Given the description of an element on the screen output the (x, y) to click on. 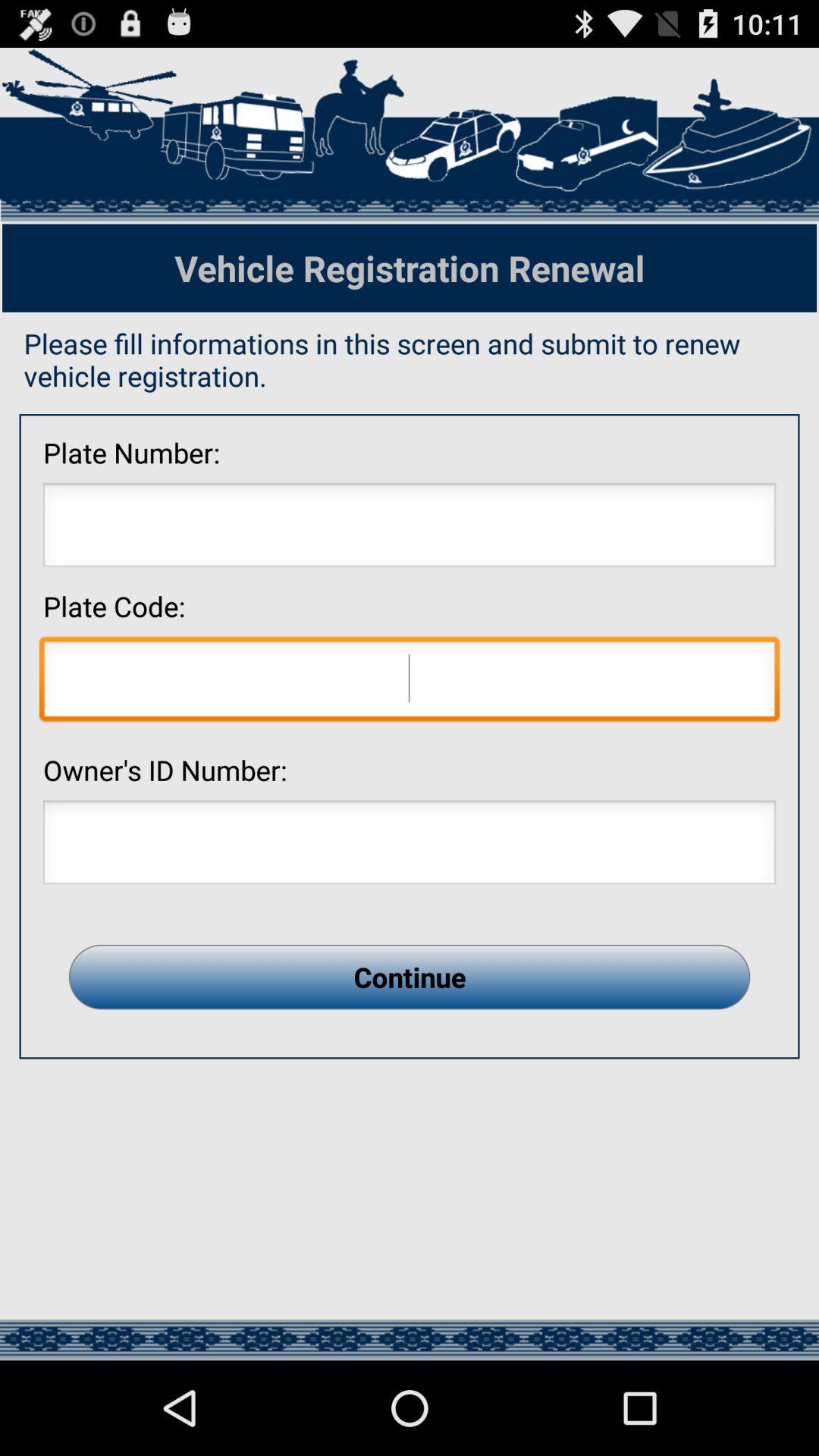
enter owner 's id number (409, 846)
